Given the description of an element on the screen output the (x, y) to click on. 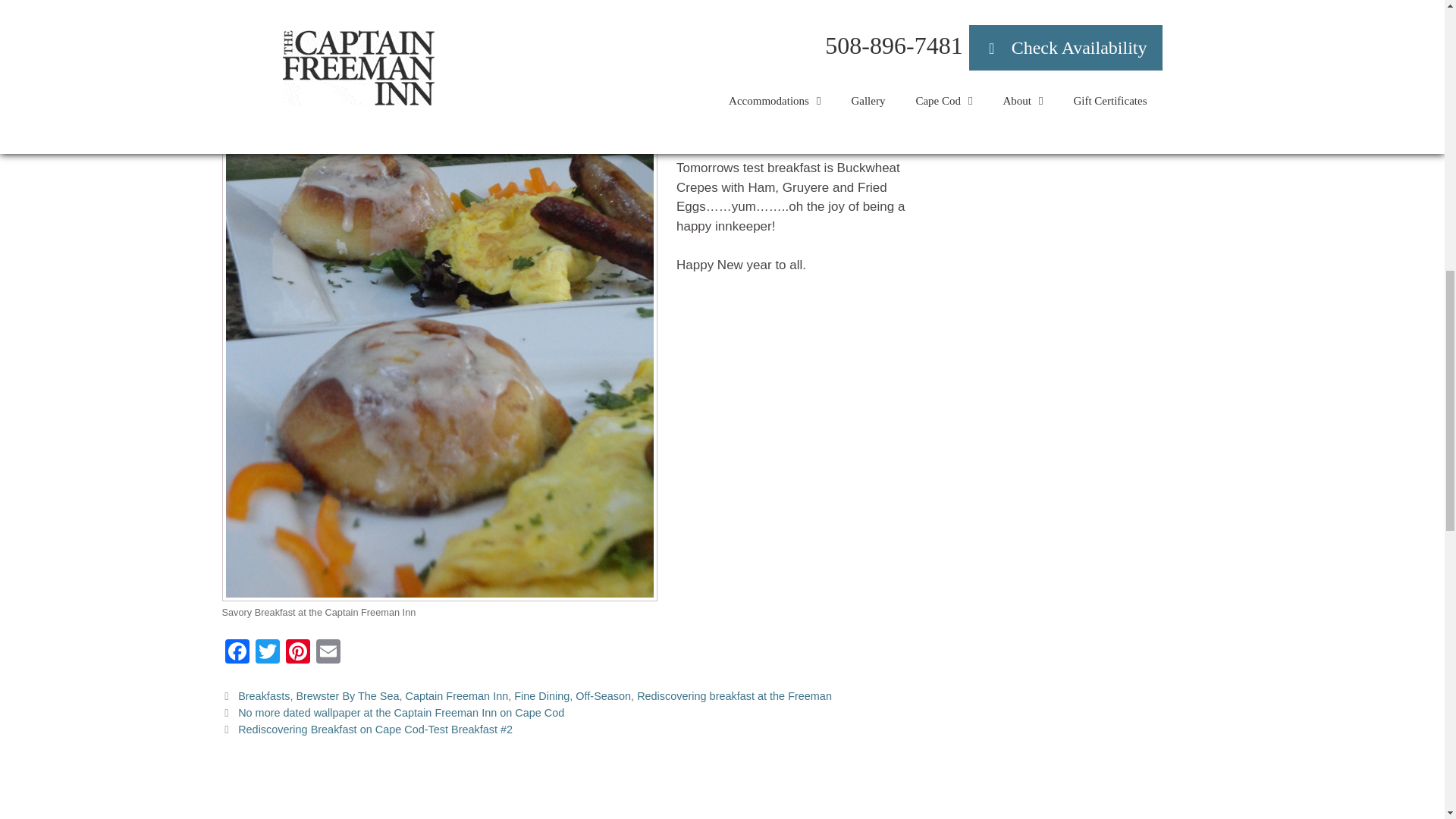
Facebook (236, 653)
Email (327, 653)
Twitter (266, 653)
Breakfasts (263, 695)
Previous (392, 712)
Review us on TripAdvisor (1061, 45)
Pinterest (297, 653)
Facebook (236, 653)
Review us on Yelp (1040, 83)
Pinterest (297, 653)
Follow us on Pinterest (1051, 8)
Email (327, 653)
Brewster By The Sea (346, 695)
Next (366, 729)
Twitter (266, 653)
